Given the description of an element on the screen output the (x, y) to click on. 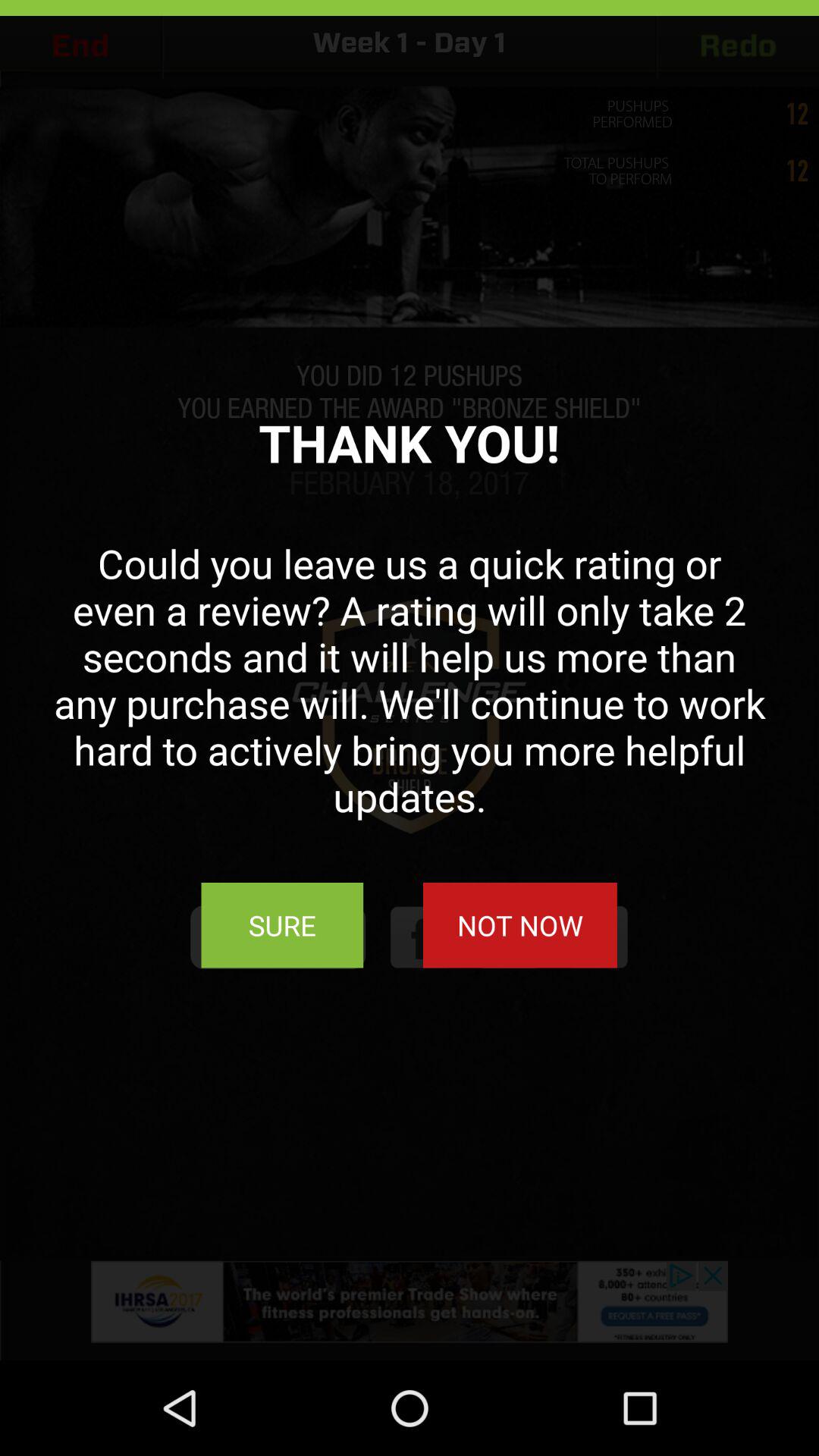
turn off the button next to the sure button (520, 925)
